Given the description of an element on the screen output the (x, y) to click on. 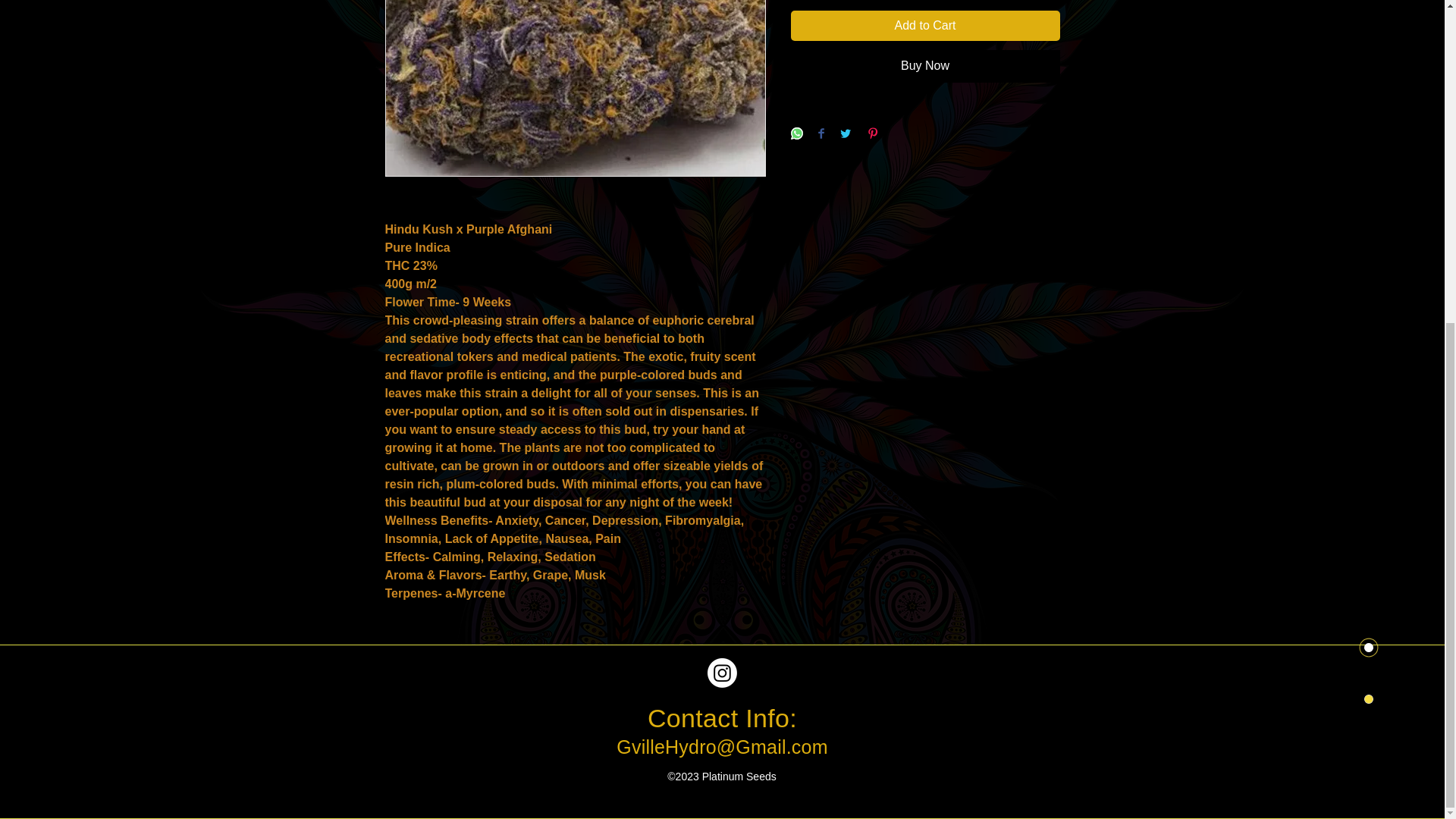
Buy Now (924, 65)
Add to Cart (924, 25)
